Given the description of an element on the screen output the (x, y) to click on. 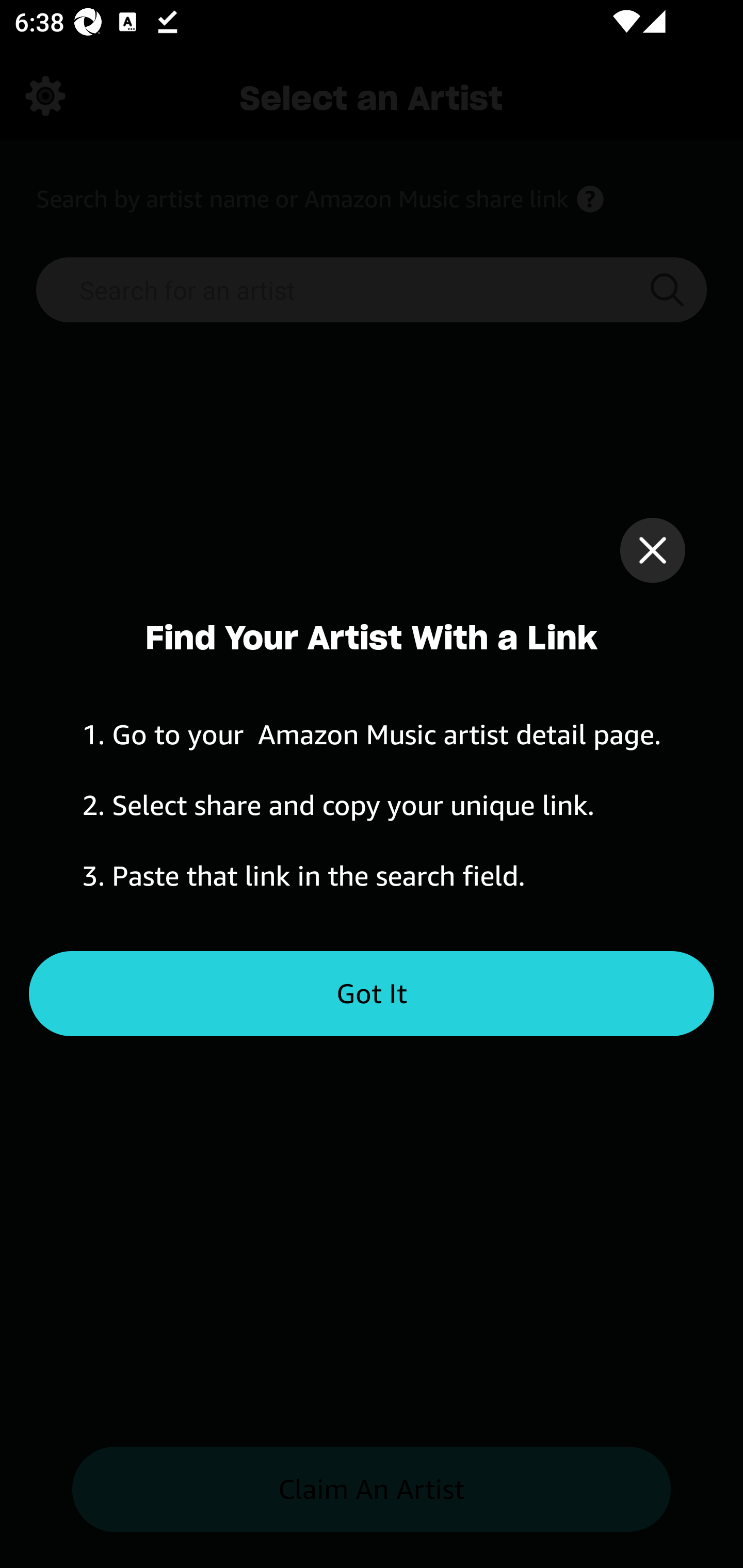
Generic_dismiss  icon (652, 550)
Got it button Got It (371, 993)
